Given the description of an element on the screen output the (x, y) to click on. 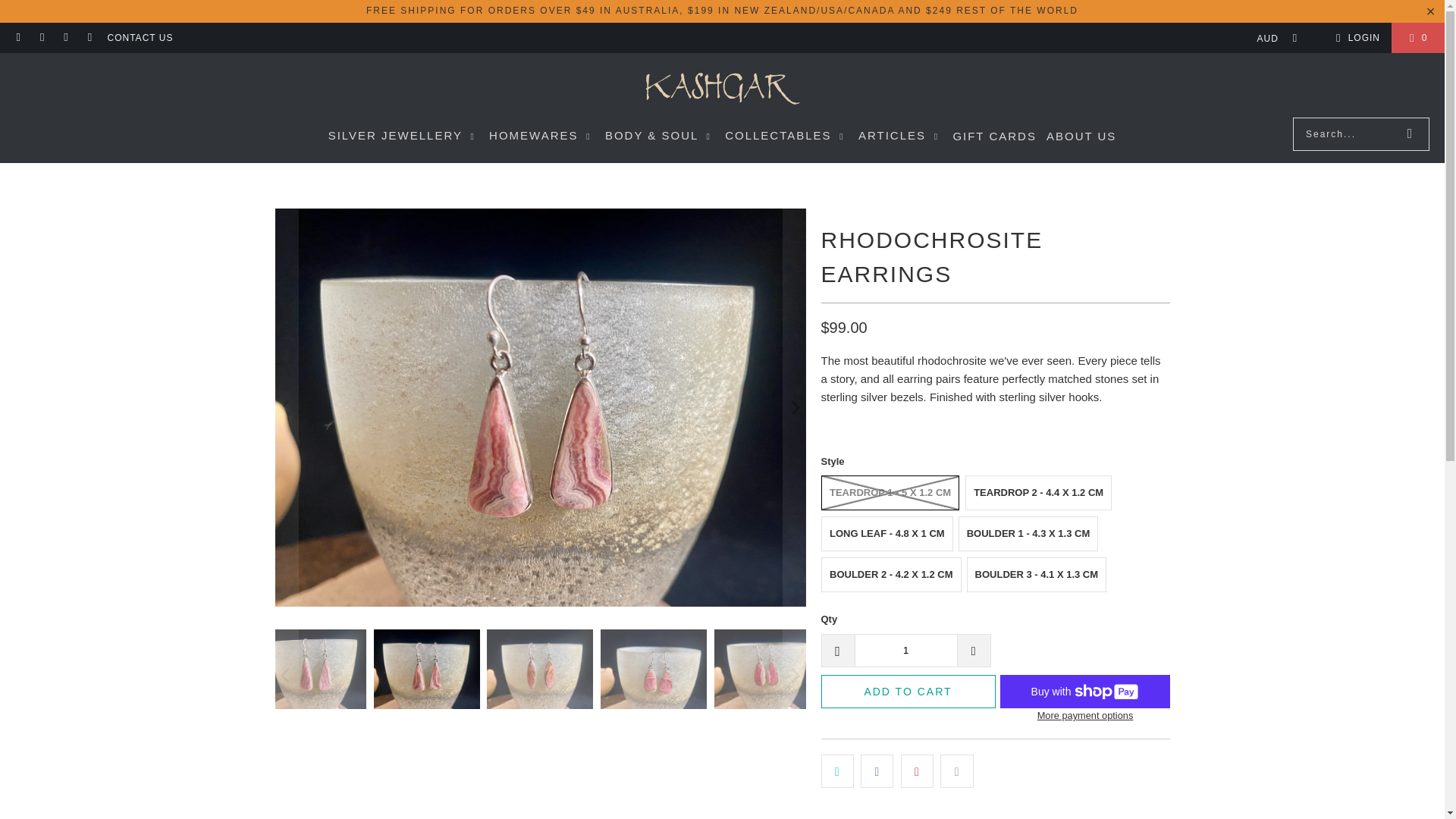
Kashgar (722, 88)
Email Kashgar (17, 37)
Kashgar on Facebook (41, 37)
Share this on Pinterest (917, 770)
Kashgar on Instagram (65, 37)
Share this on Twitter (837, 770)
Share this on Facebook (876, 770)
My Account  (1355, 37)
Kashgar on Pinterest (89, 37)
1 (904, 650)
Email this to a friend (956, 770)
